Given the description of an element on the screen output the (x, y) to click on. 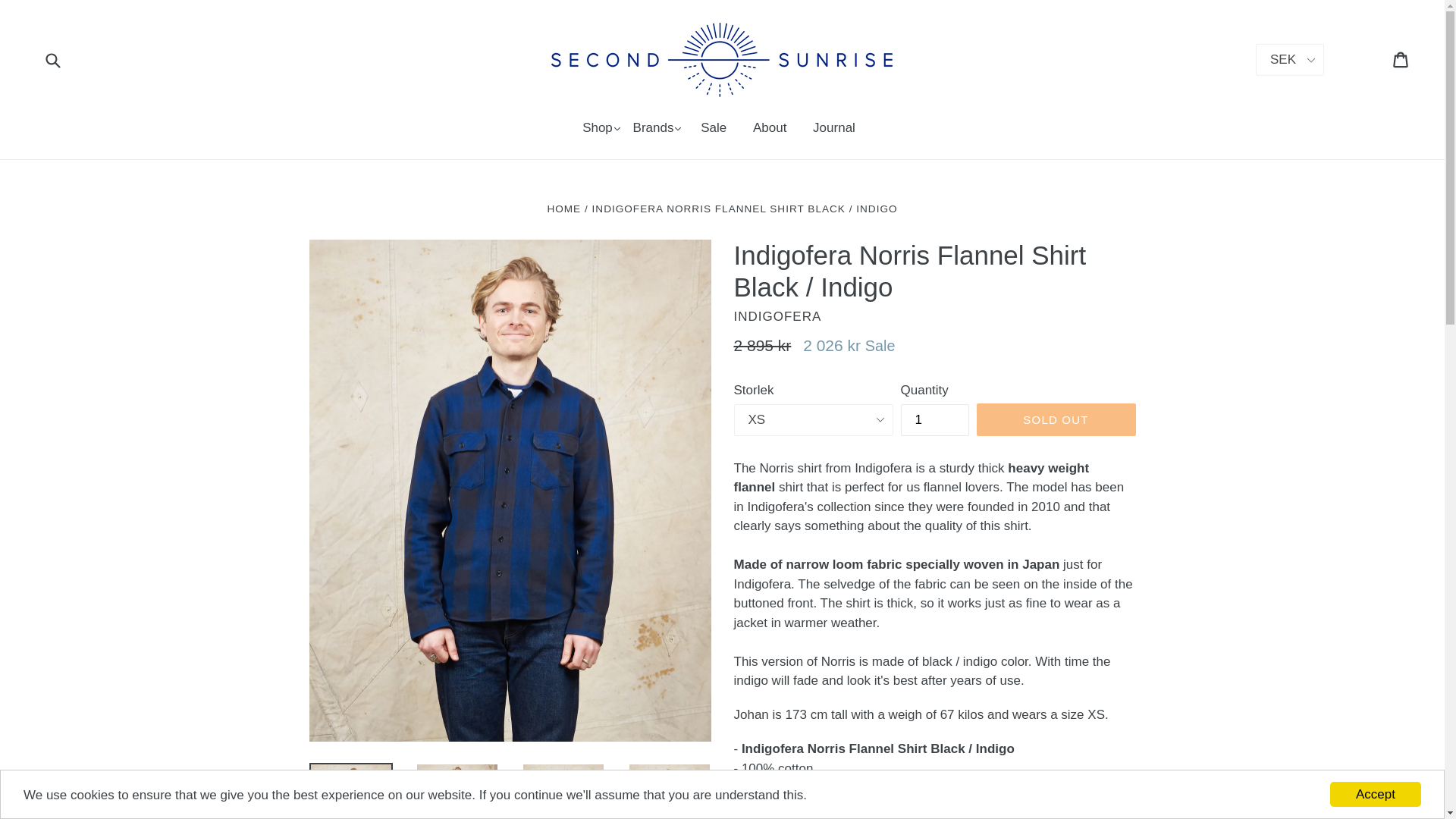
Home (563, 208)
1 (935, 419)
